Given the description of an element on the screen output the (x, y) to click on. 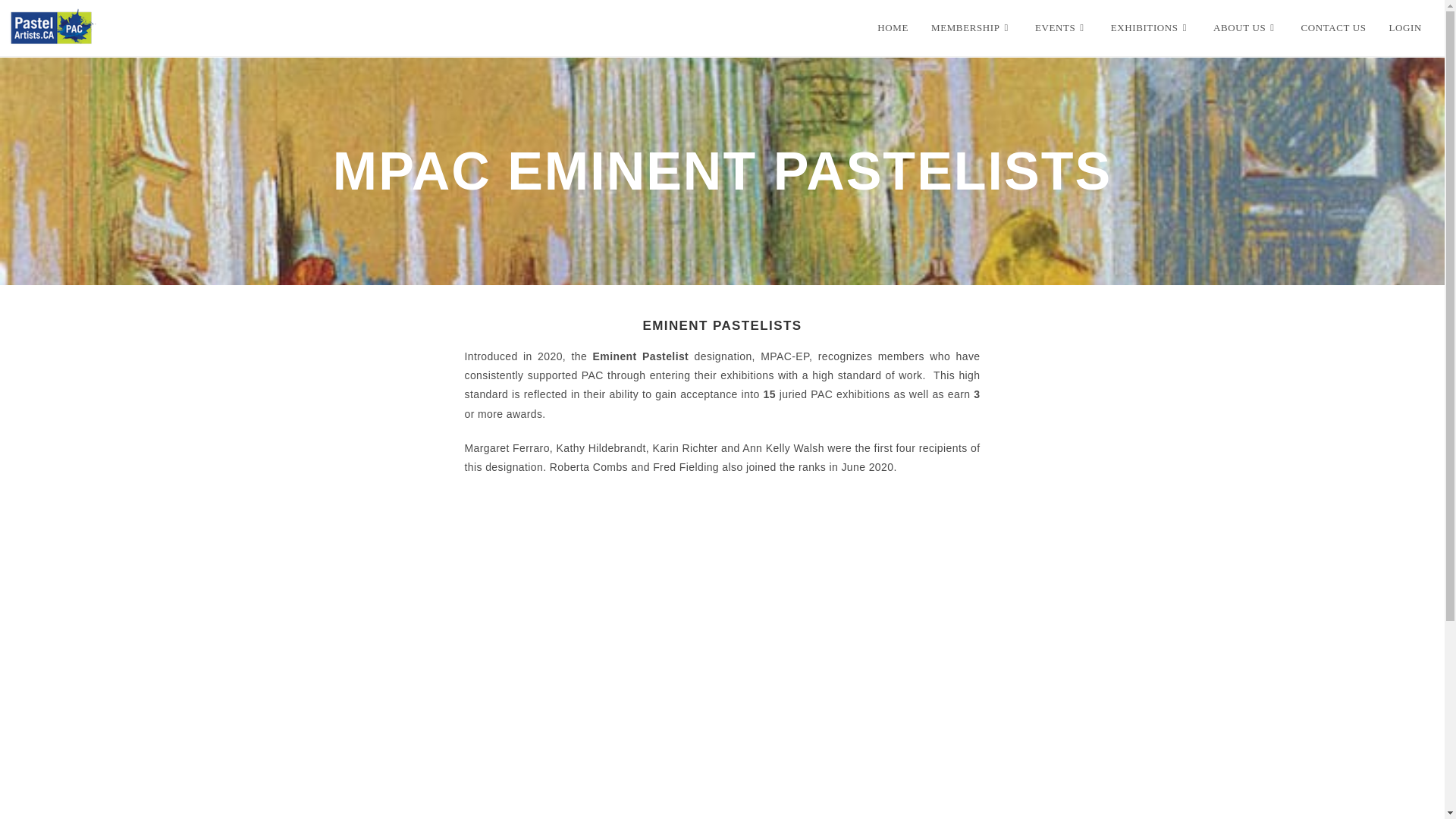
CONTACT US (1333, 28)
ABOUT US (1246, 28)
EVENTS (1061, 28)
HOME (893, 28)
MEMBERSHIP (971, 28)
LOGIN (1404, 28)
EXHIBITIONS (1150, 28)
